Given the description of an element on the screen output the (x, y) to click on. 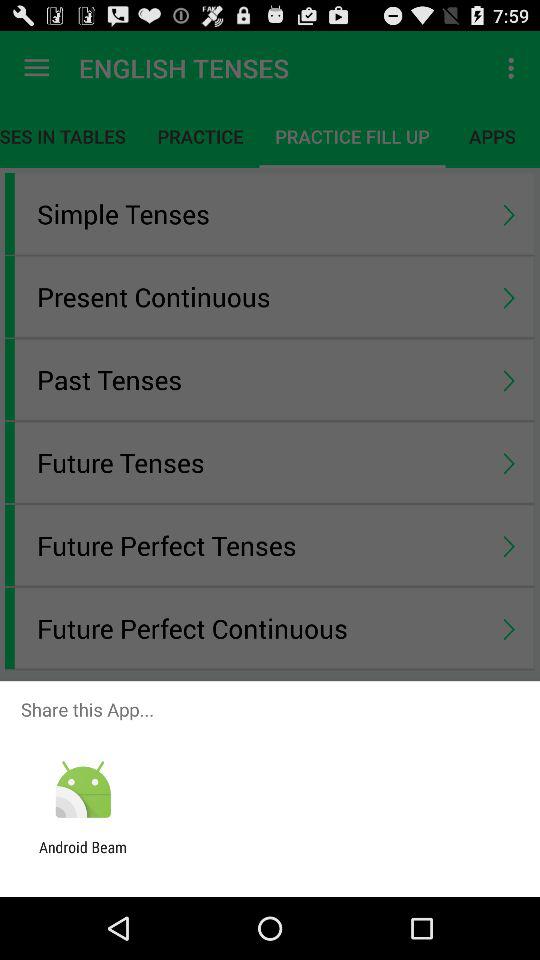
turn on the item above android beam app (82, 789)
